Given the description of an element on the screen output the (x, y) to click on. 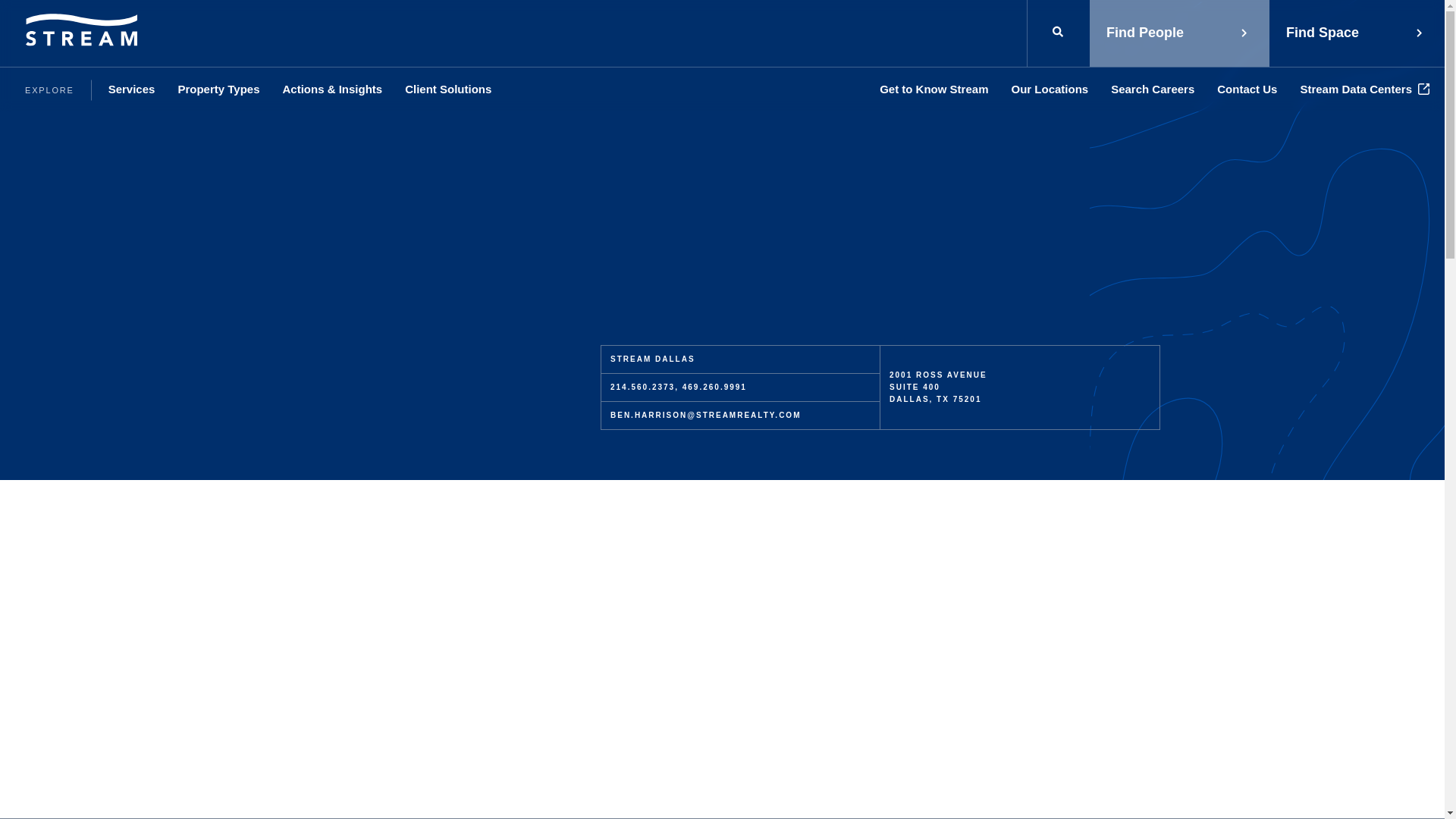
Services (132, 89)
Property Types (217, 89)
Find People (1179, 33)
